Given the description of an element on the screen output the (x, y) to click on. 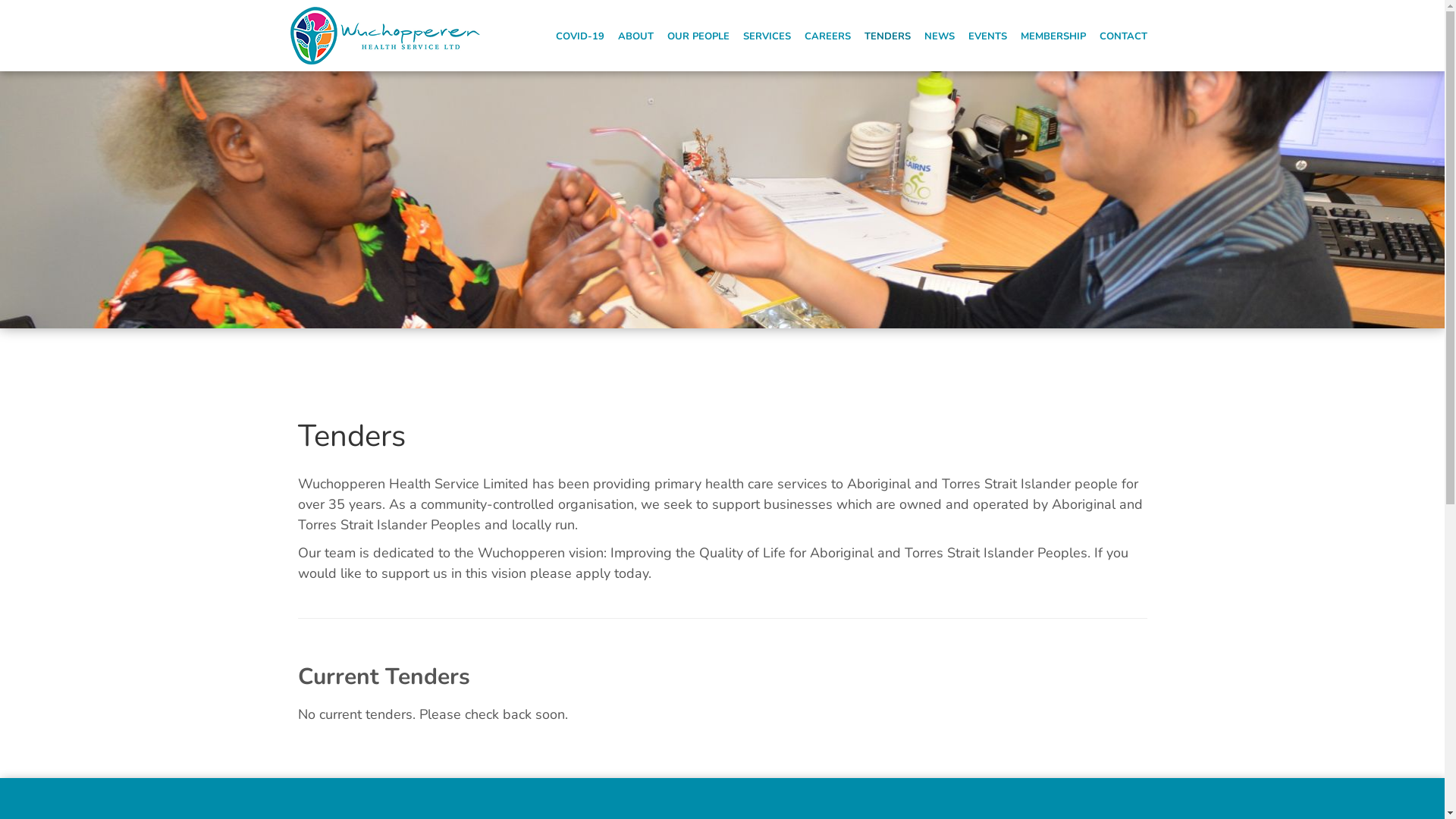
EVENTS Element type: text (987, 36)
MEMBERSHIP Element type: text (1053, 36)
COVID-19 Element type: text (579, 36)
CONTACT Element type: text (1123, 36)
TENDERS Element type: text (887, 36)
OUR PEOPLE Element type: text (698, 36)
SERVICES Element type: text (766, 36)
ABOUT Element type: text (635, 36)
CAREERS Element type: text (827, 36)
NEWS Element type: text (939, 36)
